Given the description of an element on the screen output the (x, y) to click on. 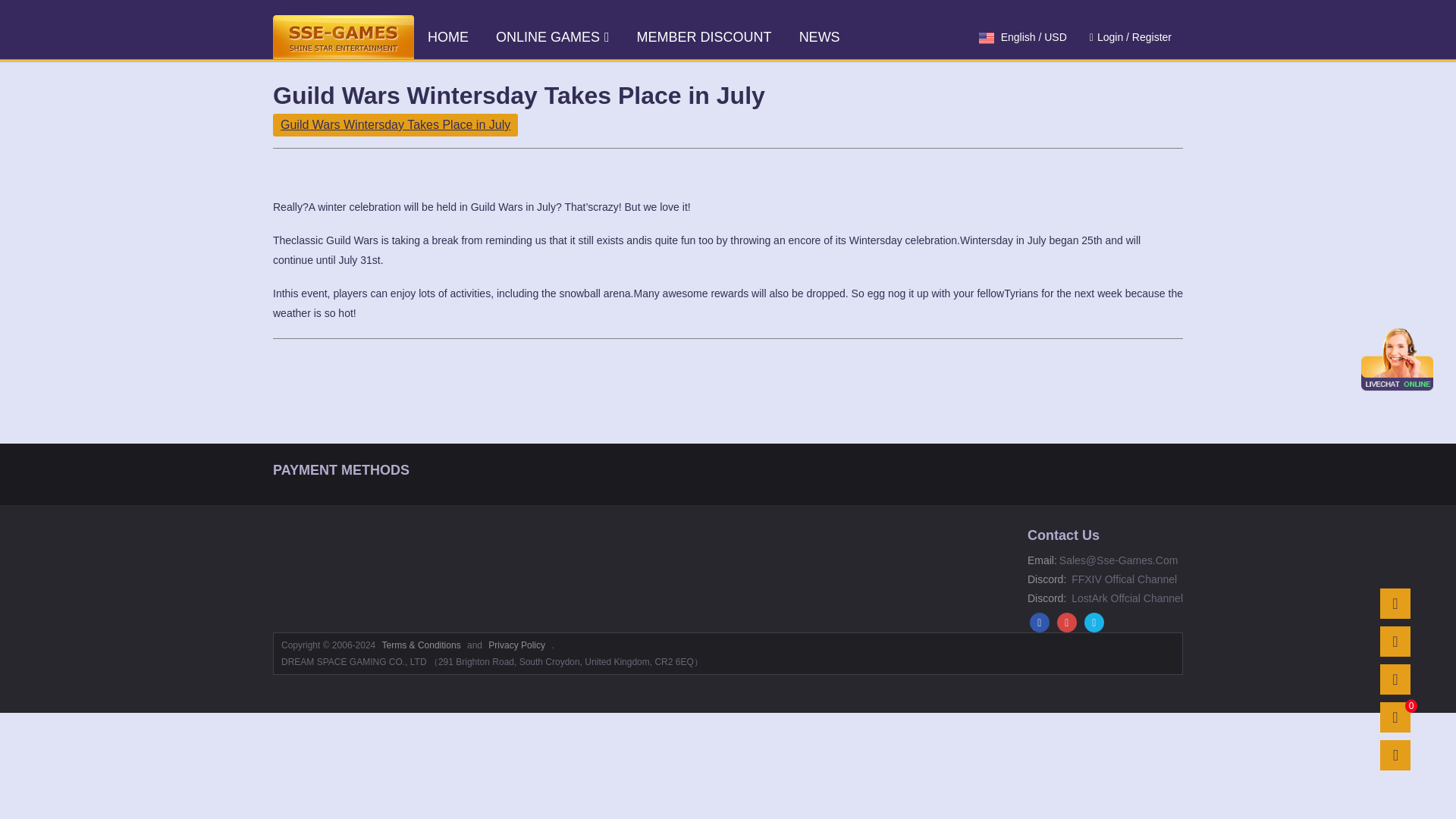
HOME (447, 37)
Login (1109, 37)
LostArk Offcial Channel (1123, 598)
Guild Wars Wintersday Takes Place in July (395, 124)
NEWS (819, 37)
Register (1152, 37)
MEMBER DISCOUNT (704, 37)
FFXIV Offical Channel (1120, 579)
Privacy Policy (517, 644)
